Given the description of an element on the screen output the (x, y) to click on. 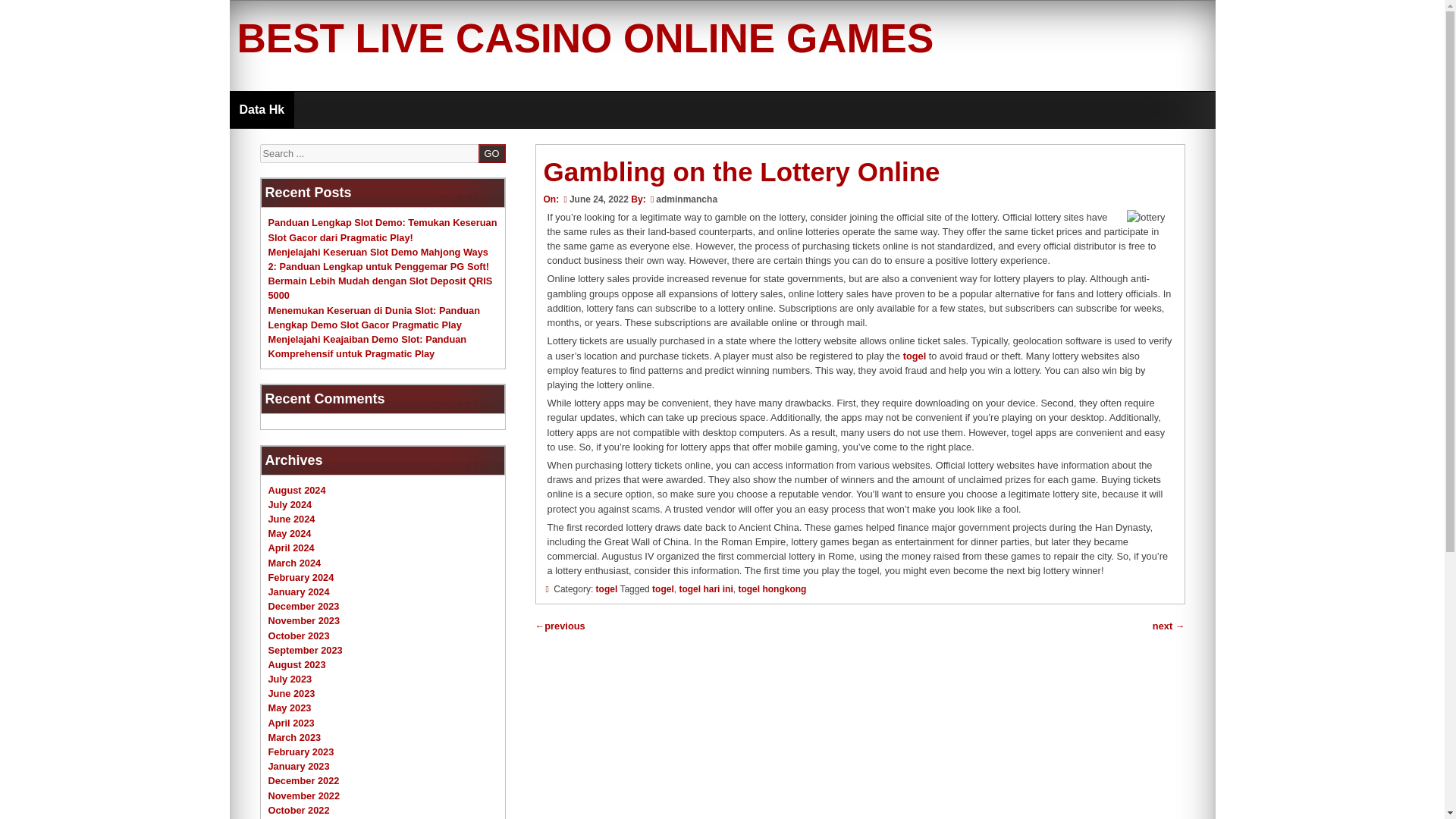
GO (492, 153)
August 2024 (296, 490)
August 2023 (296, 664)
adminmancha (686, 199)
March 2023 (294, 737)
July 2023 (290, 678)
April 2023 (290, 722)
togel (606, 588)
Data Hk (261, 109)
June 24, 2022 (593, 199)
togel (663, 588)
togel hongkong (772, 588)
July 2024 (290, 504)
